Given the description of an element on the screen output the (x, y) to click on. 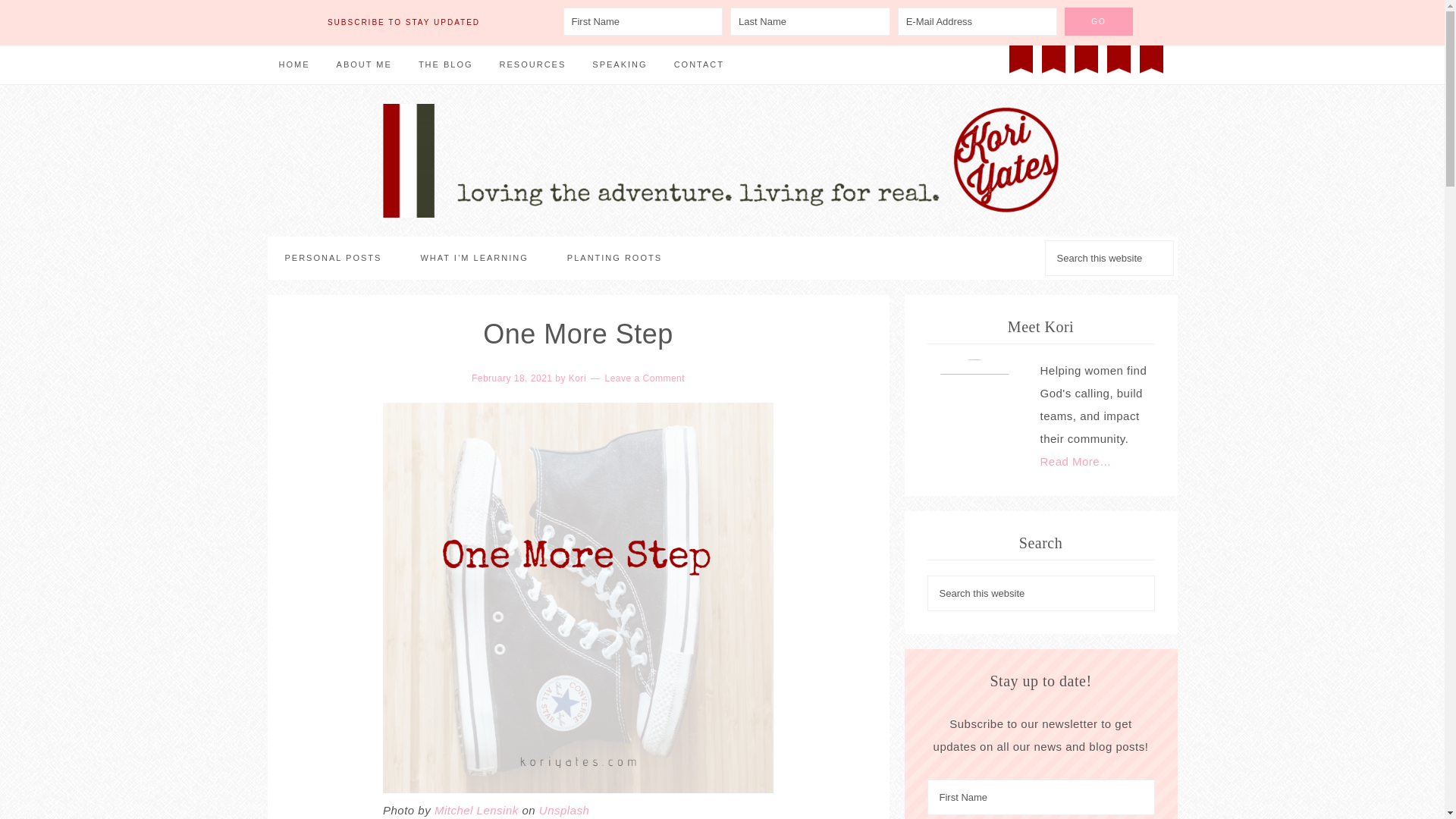
Go (1098, 21)
PLANTING ROOTS (614, 258)
Unsplash (563, 809)
PERSONAL POSTS (332, 258)
KORI YATES (721, 160)
CONTACT (698, 64)
ABOUT ME (363, 64)
THE BLOG (445, 64)
Leave a Comment (645, 378)
Kori (577, 378)
Mitchel Lensink (475, 809)
